Given the description of an element on the screen output the (x, y) to click on. 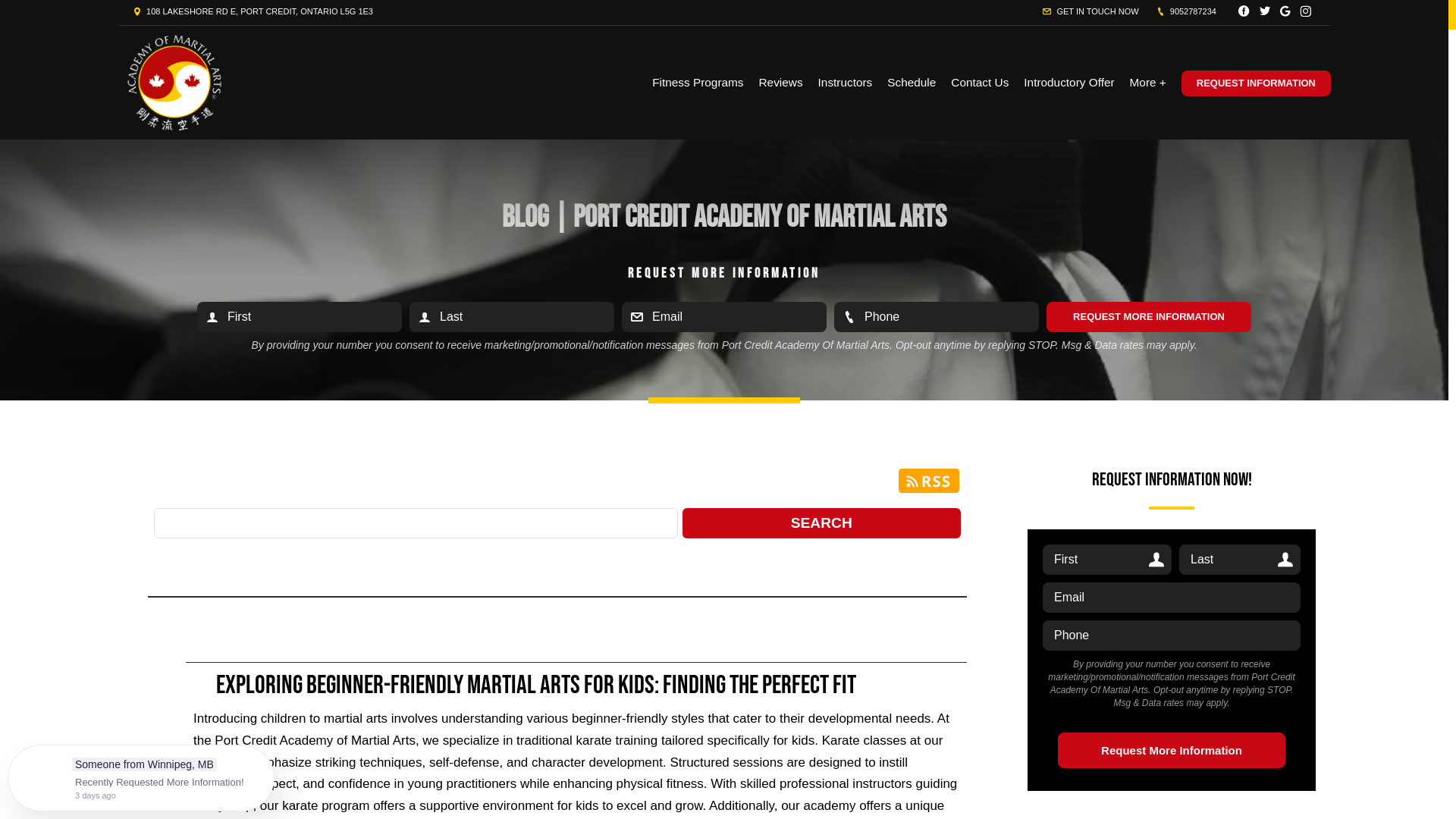
Schedule Element type: text (911, 82)
First Element type: hover (299, 316)
GET IN TOUCH NOW Element type: text (1090, 10)
Fitness Programs Element type: text (697, 82)
Search Element type: text (821, 523)
Instructors Element type: text (845, 82)
Reviews Element type: text (780, 82)
Required Element type: hover (723, 316)
First Element type: hover (1106, 559)
Last Element type: hover (511, 316)
REQUEST INFORMATION Element type: text (1255, 83)
9052787234 Element type: text (1186, 10)
Required Element type: hover (936, 316)
Contact Us Element type: text (979, 82)
Last Element type: hover (1239, 559)
More + Element type: text (1147, 82)
Required Element type: hover (1171, 635)
Required Element type: hover (1171, 597)
Introductory Offer Element type: text (1068, 82)
Request More Information Element type: text (1171, 750)
Request More Information Element type: text (1148, 316)
